Given the description of an element on the screen output the (x, y) to click on. 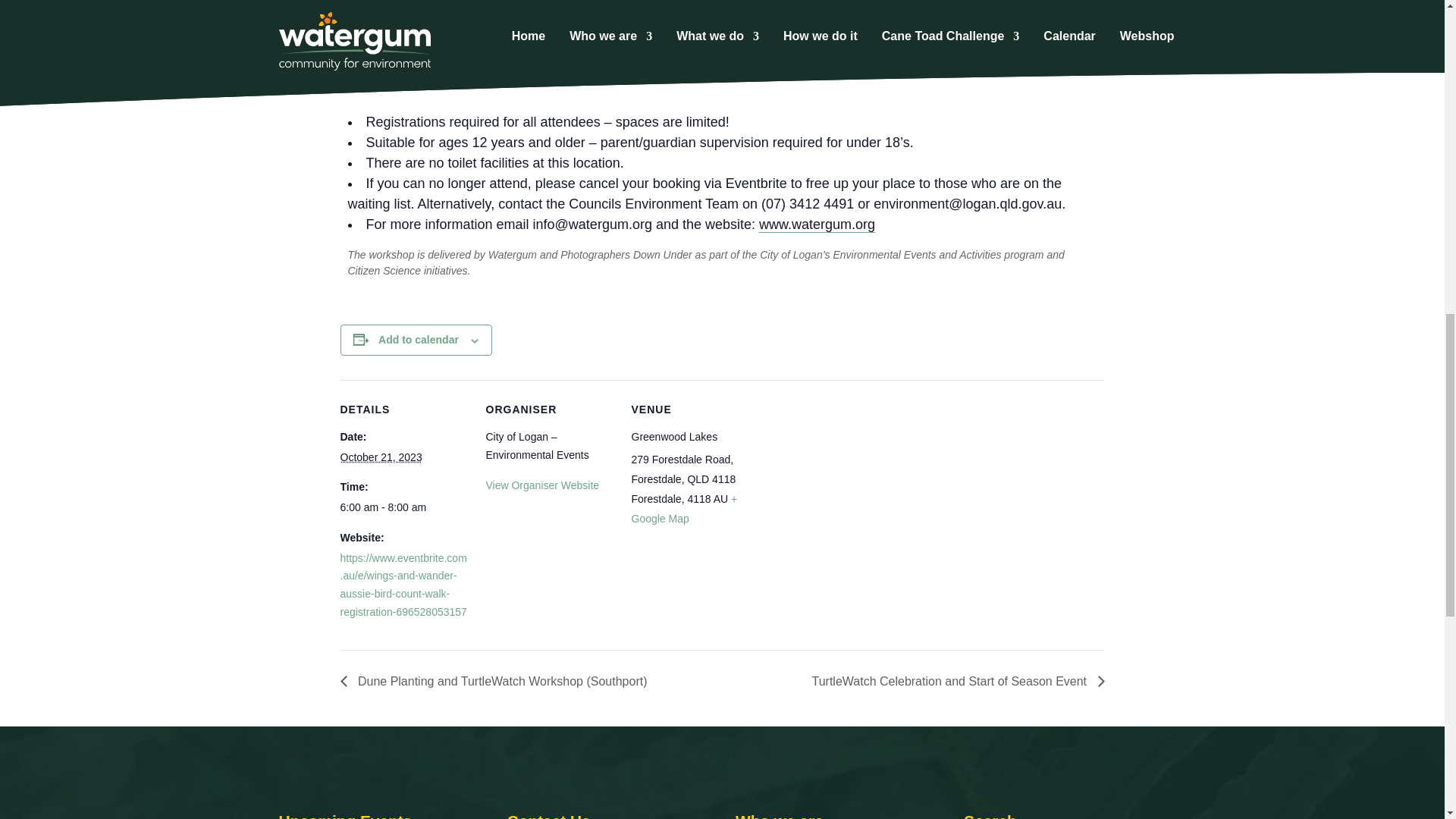
Click to view a Google Map (683, 508)
2023-10-21 (380, 457)
Google maps iframe displaying the address to Greenwood Lakes (856, 484)
2023-10-21 (403, 507)
